Given the description of an element on the screen output the (x, y) to click on. 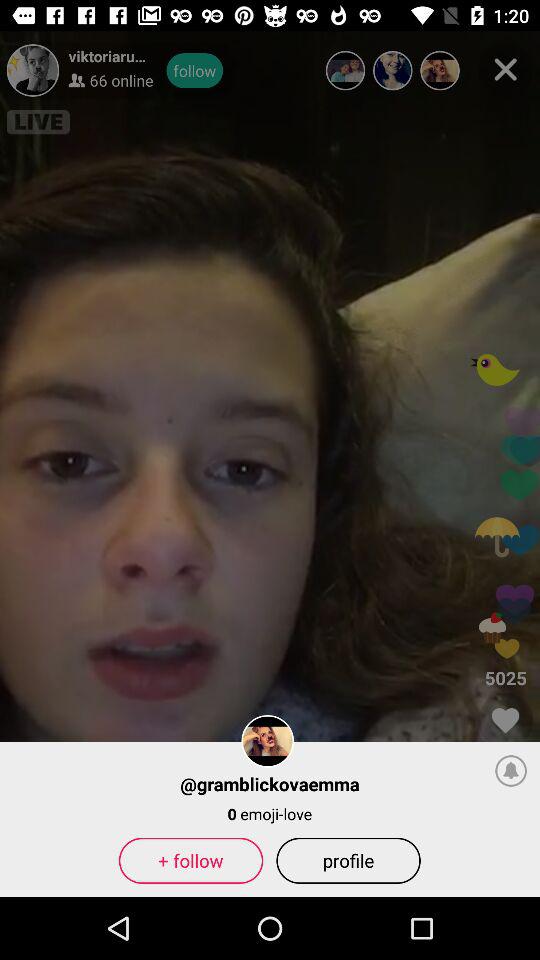
set notification (511, 770)
